Given the description of an element on the screen output the (x, y) to click on. 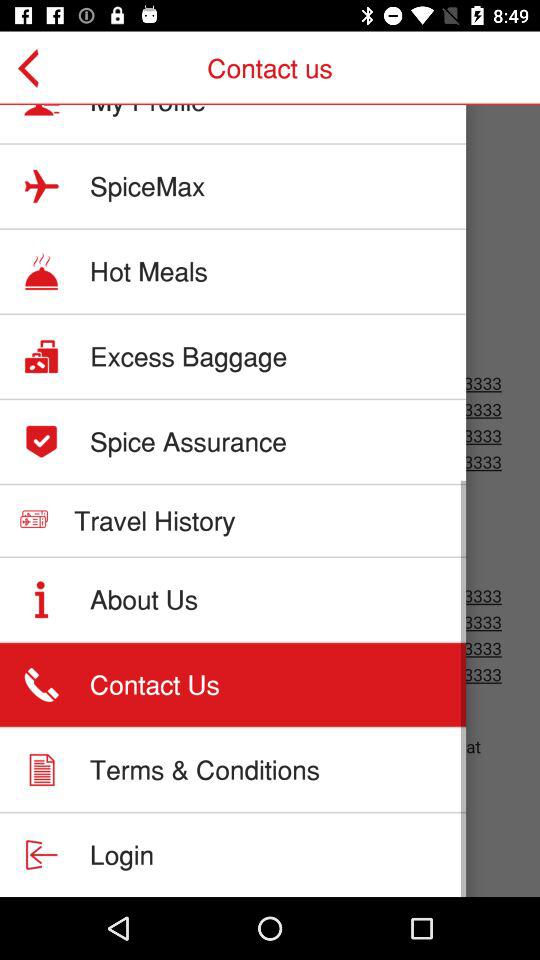
tap item next to the my profile (36, 68)
